Given the description of an element on the screen output the (x, y) to click on. 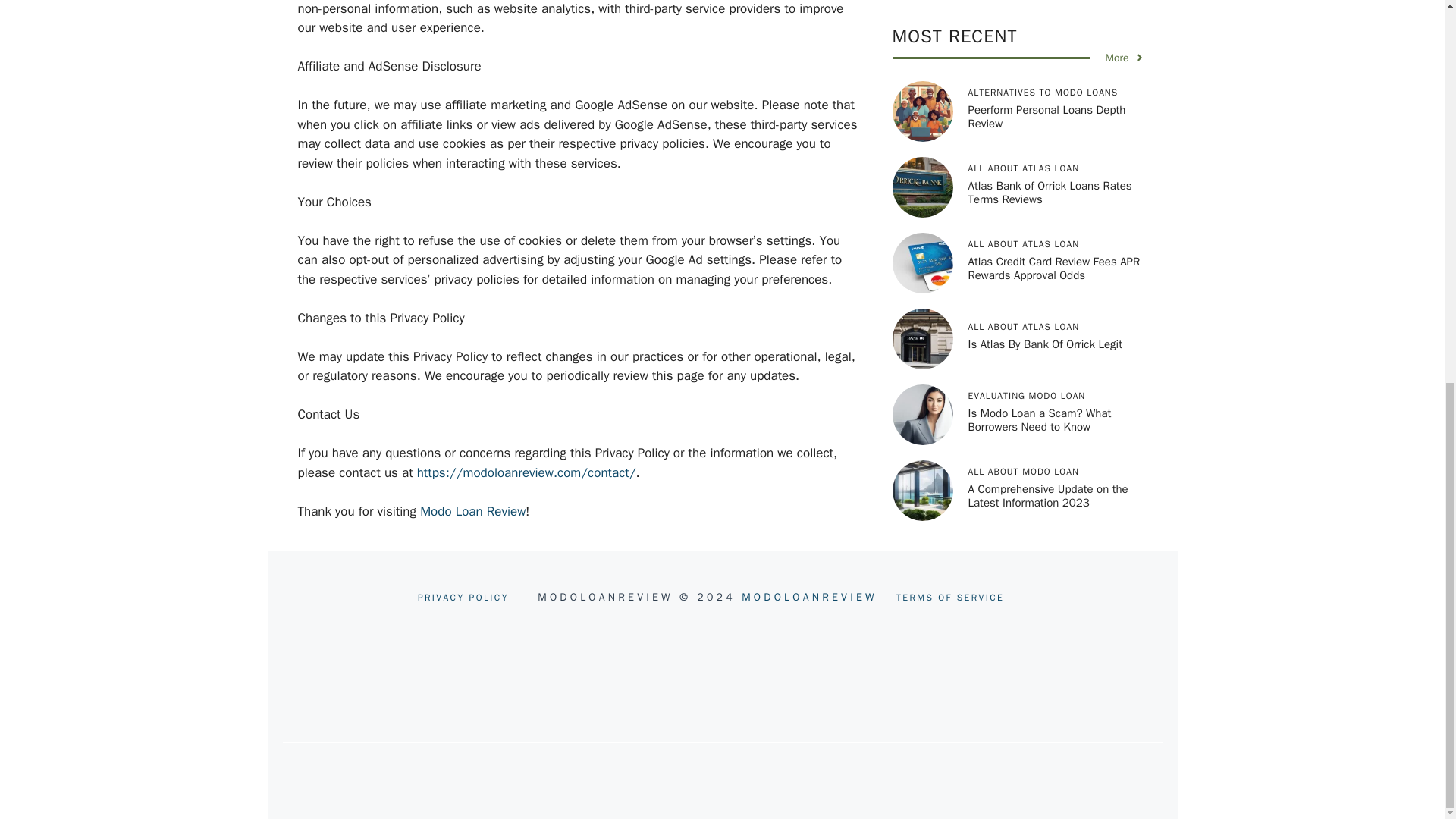
TERMS OF SERVICE (950, 597)
MODOLOANREVIEW (809, 596)
Modo Loan Review (472, 511)
PRIVACY POLICY (462, 597)
